Given the description of an element on the screen output the (x, y) to click on. 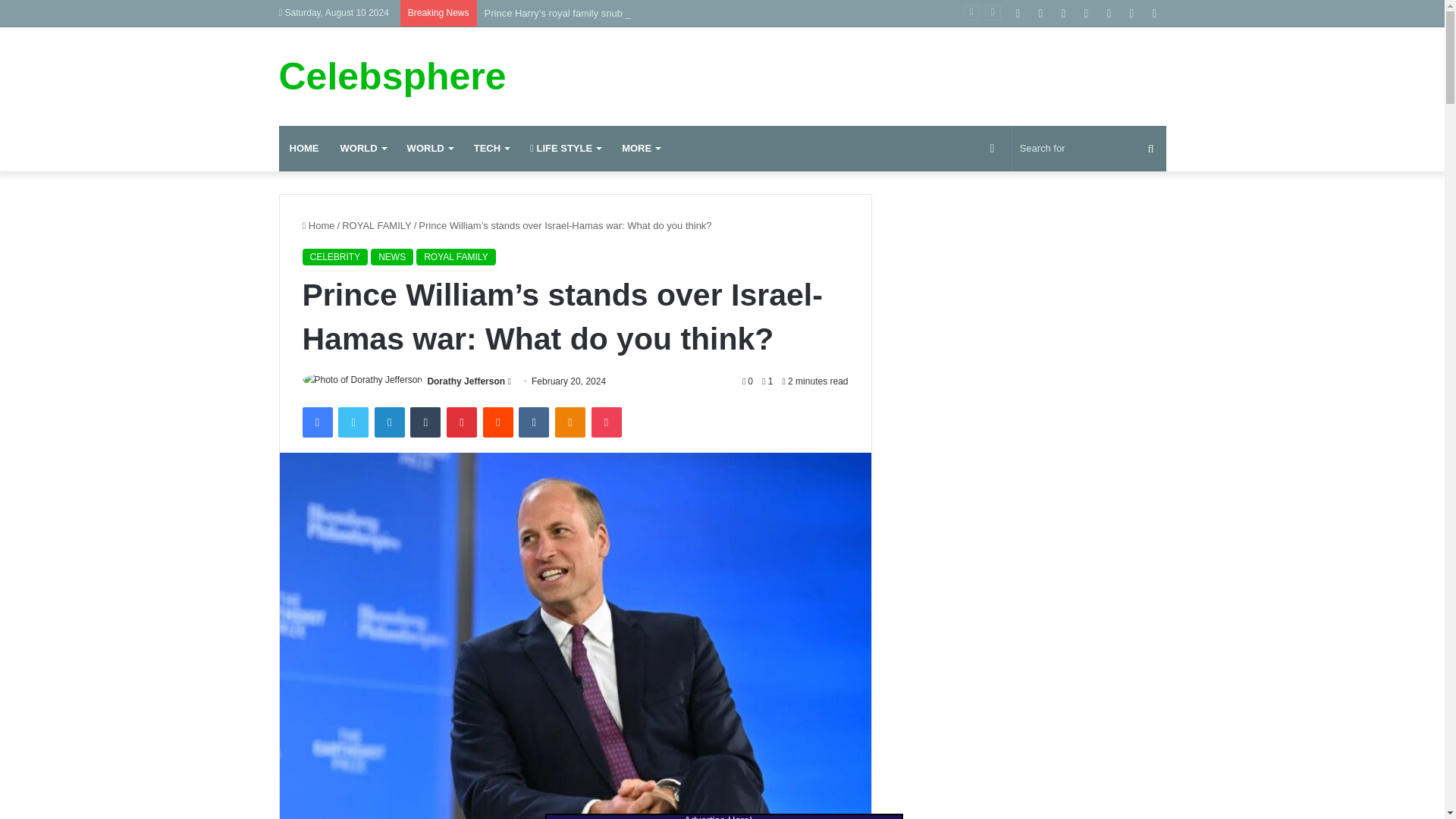
Facebook (316, 422)
WORLD (362, 148)
LIFE STYLE (565, 148)
Twitter (352, 422)
HOME (304, 148)
TECH (491, 148)
Tumblr (425, 422)
MORE (640, 148)
Search for (1088, 148)
Celebsphere (392, 76)
